Given the description of an element on the screen output the (x, y) to click on. 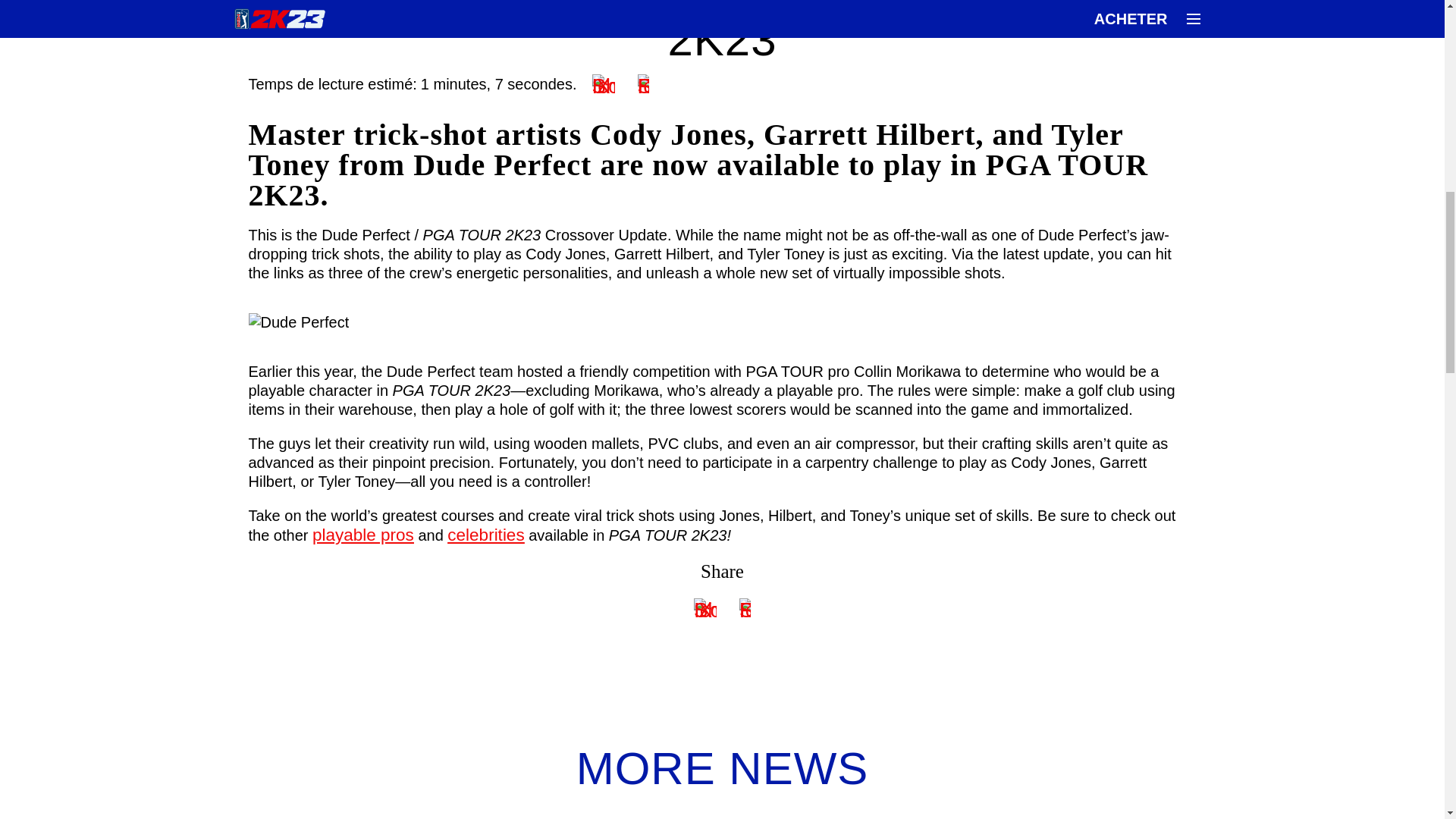
playable pros (363, 534)
celebrities (485, 534)
